Given the description of an element on the screen output the (x, y) to click on. 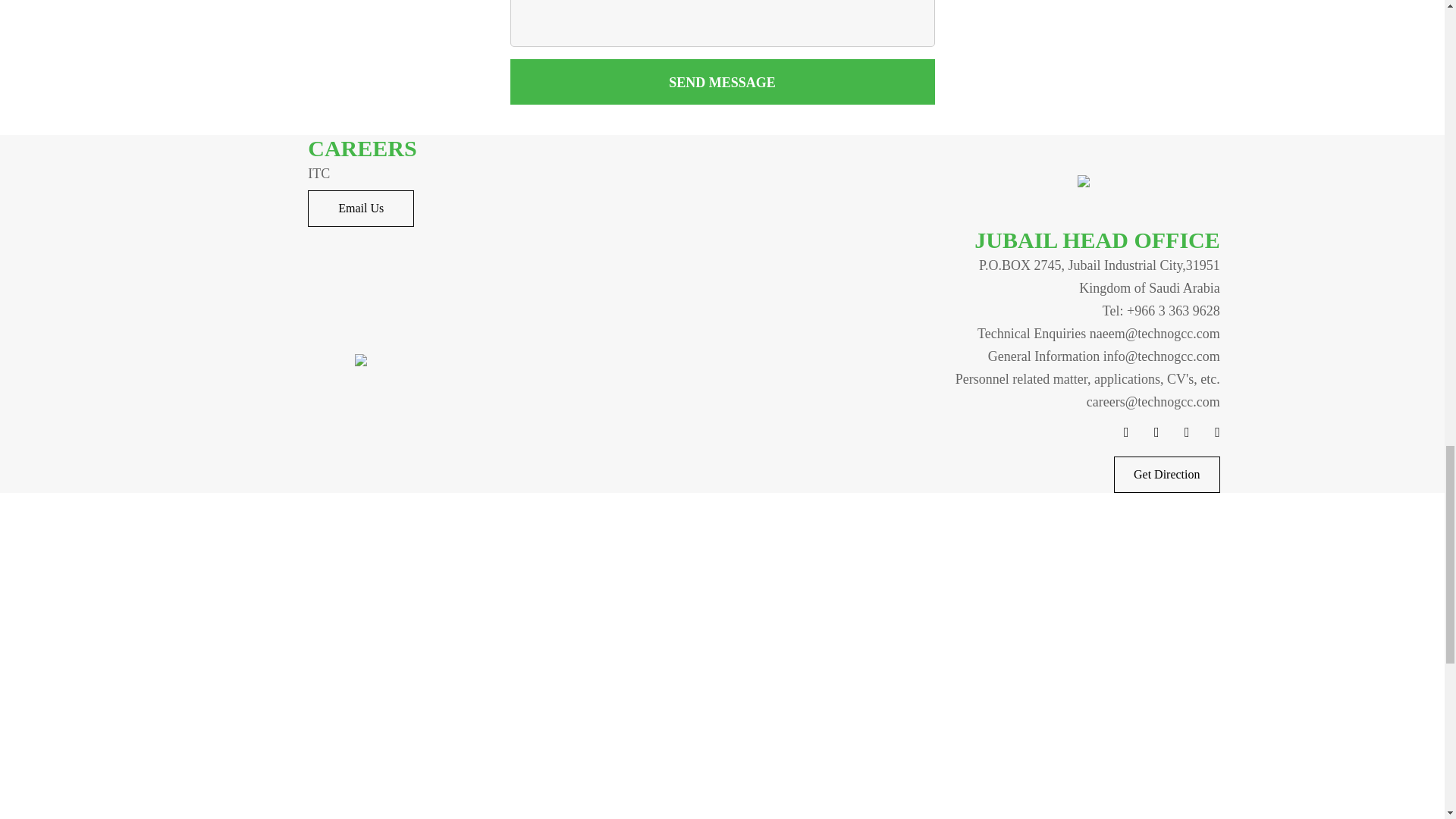
ITC (360, 173)
SEND MESSAGE (721, 81)
Get Direction (1166, 474)
Email Us (360, 208)
